Given the description of an element on the screen output the (x, y) to click on. 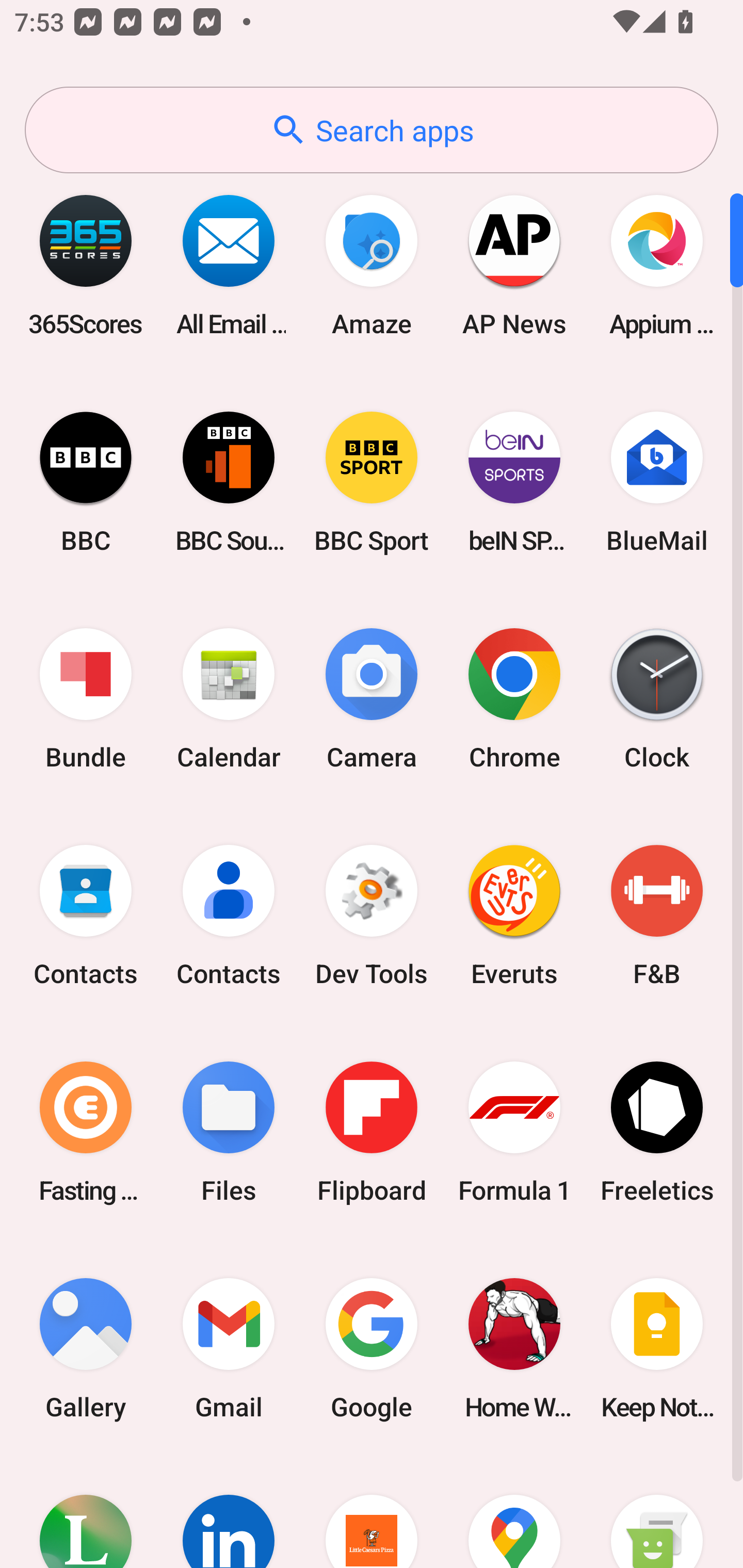
  Search apps (371, 130)
365Scores (85, 264)
All Email Connect (228, 264)
Amaze (371, 264)
AP News (514, 264)
Appium Settings (656, 264)
BBC (85, 482)
BBC Sounds (228, 482)
BBC Sport (371, 482)
beIN SPORTS (514, 482)
BlueMail (656, 482)
Bundle (85, 699)
Calendar (228, 699)
Camera (371, 699)
Chrome (514, 699)
Clock (656, 699)
Contacts (85, 915)
Contacts (228, 915)
Dev Tools (371, 915)
Everuts (514, 915)
F&B (656, 915)
Fasting Coach (85, 1131)
Files (228, 1131)
Flipboard (371, 1131)
Formula 1 (514, 1131)
Freeletics (656, 1131)
Gallery (85, 1348)
Gmail (228, 1348)
Google (371, 1348)
Home Workout (514, 1348)
Keep Notes (656, 1348)
Lifesum (85, 1512)
LinkedIn (228, 1512)
Little Caesars Pizza (371, 1512)
Maps (514, 1512)
Messaging (656, 1512)
